Given the description of an element on the screen output the (x, y) to click on. 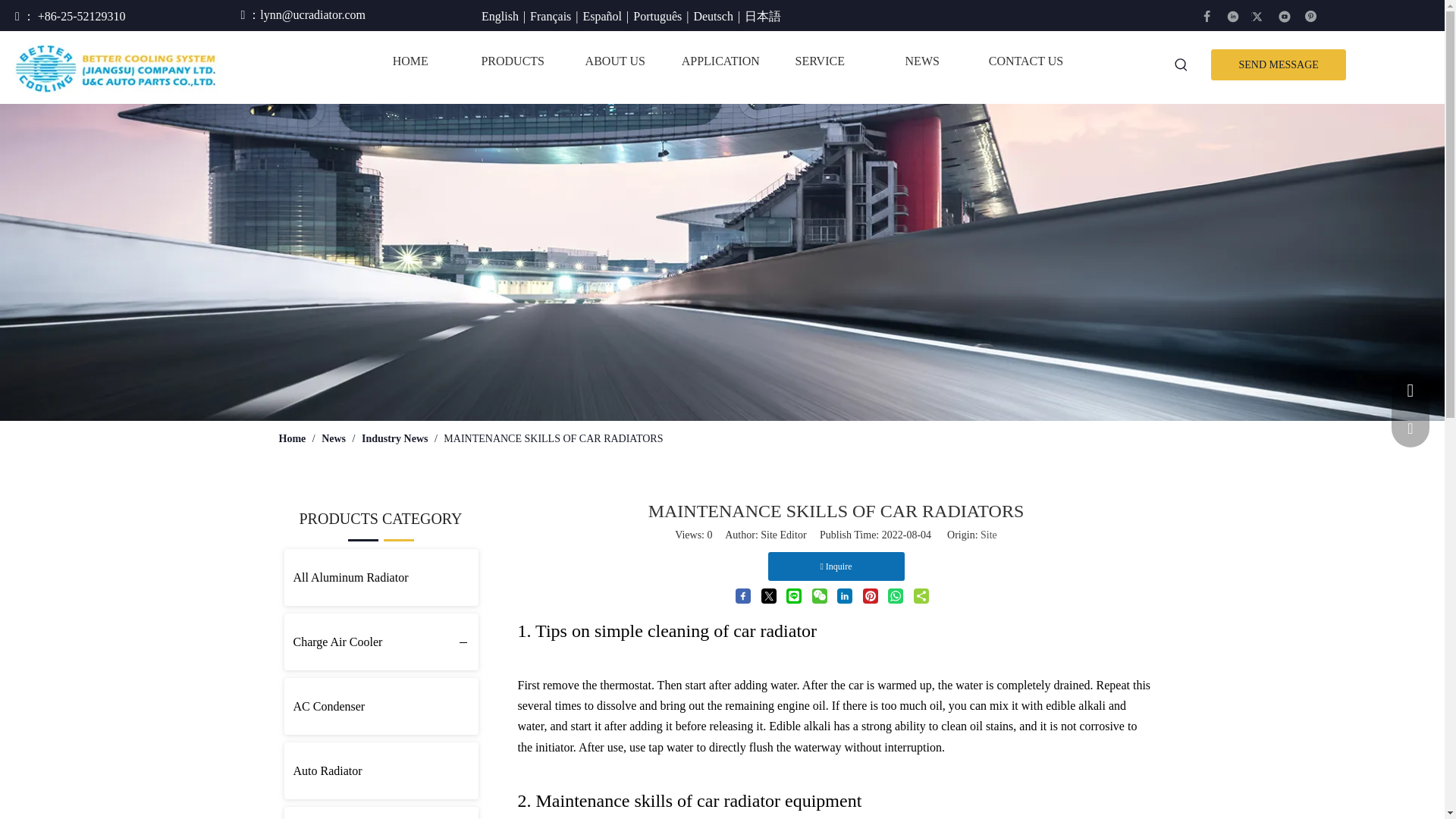
English (499, 16)
Facebook (1207, 16)
Youtube (1284, 16)
CONTACT US (1024, 61)
Linkedin (1233, 16)
Deutsch (712, 16)
PRODUCTS (512, 61)
SERVICE (819, 61)
All Aluminum Radiator (380, 577)
Pinterest (1310, 16)
